Given the description of an element on the screen output the (x, y) to click on. 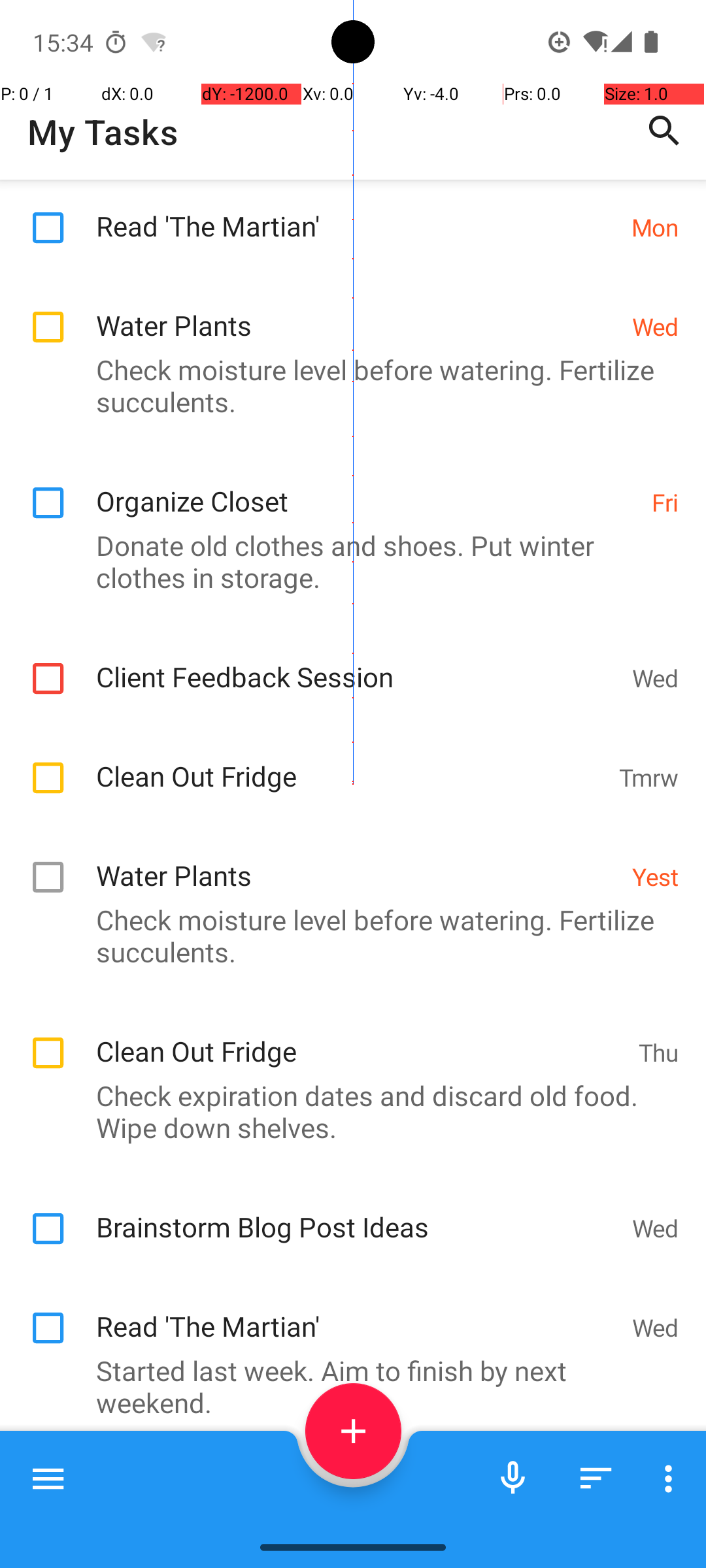
Client Feedback Session Element type: android.widget.TextView (357, 662)
